Given the description of an element on the screen output the (x, y) to click on. 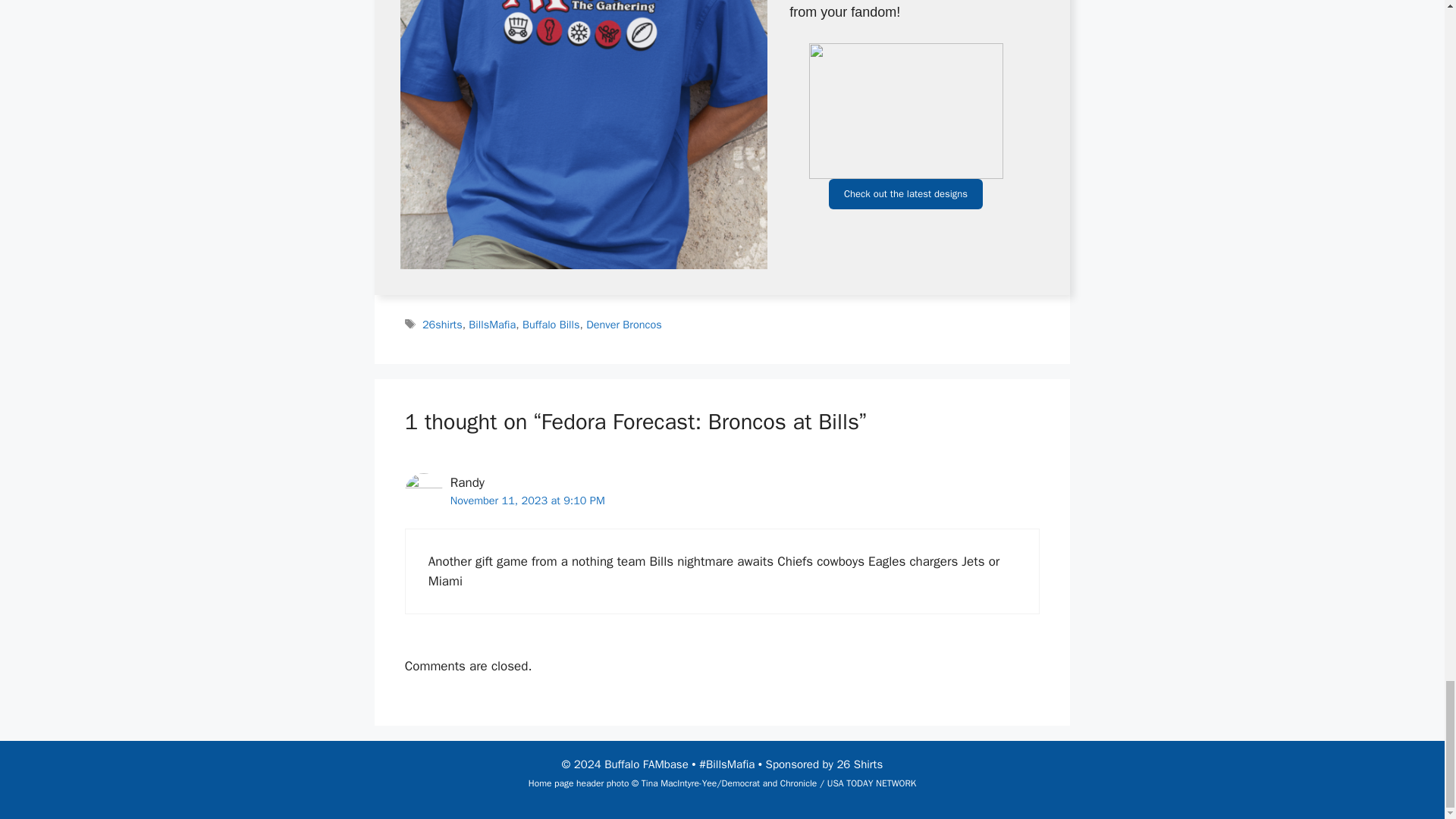
Check out the latest designs (905, 194)
Buffalo Bills (550, 324)
Denver Broncos (623, 324)
26 Shirts (858, 764)
November 11, 2023 at 9:10 PM (527, 499)
BillsMafia (491, 324)
26shirts (442, 324)
